Given the description of an element on the screen output the (x, y) to click on. 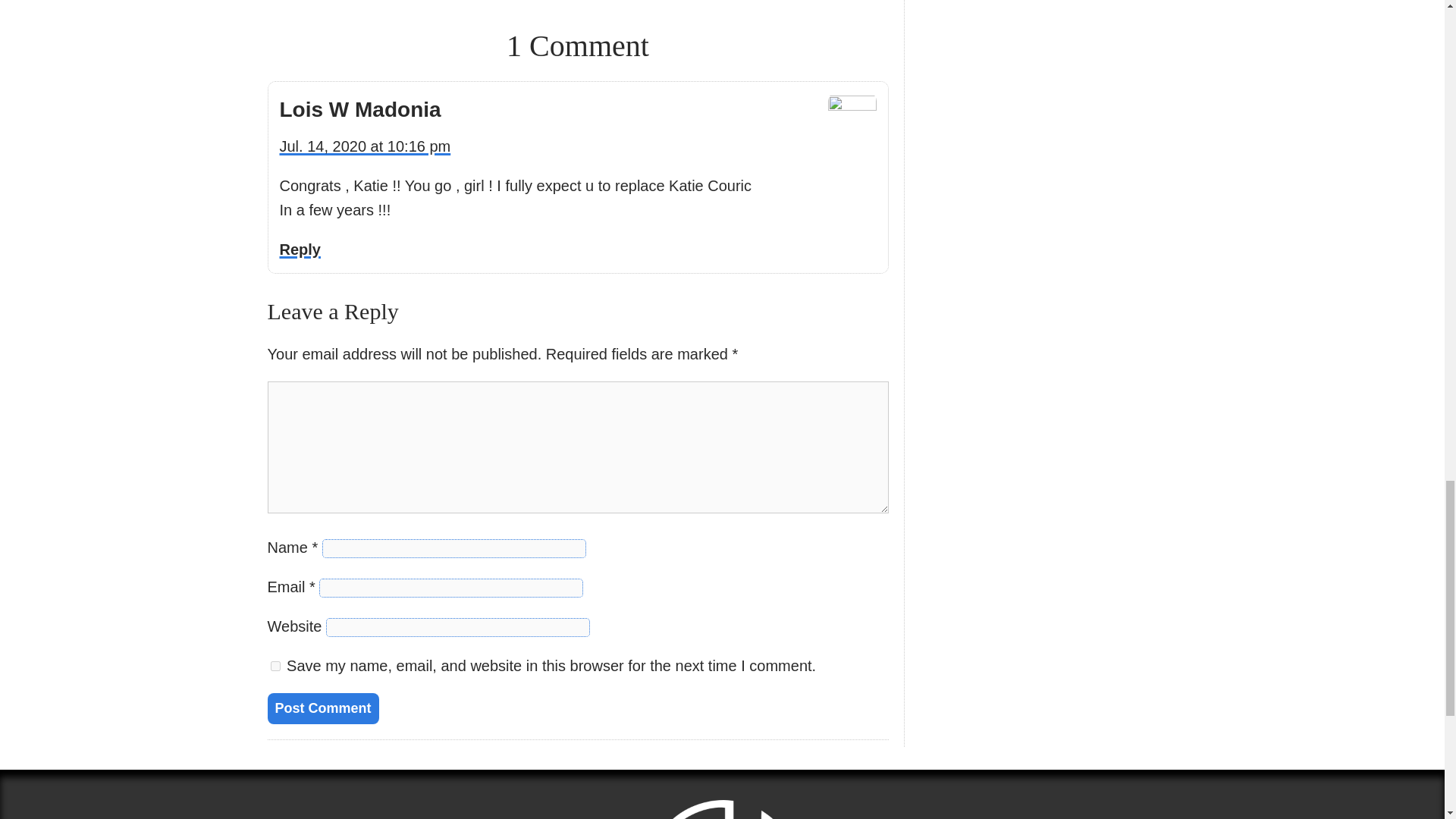
Jul. 14, 2020 at 10:16 pm (364, 146)
yes (274, 665)
Post Comment (322, 707)
Reply (299, 248)
Post Comment (322, 707)
